Given the description of an element on the screen output the (x, y) to click on. 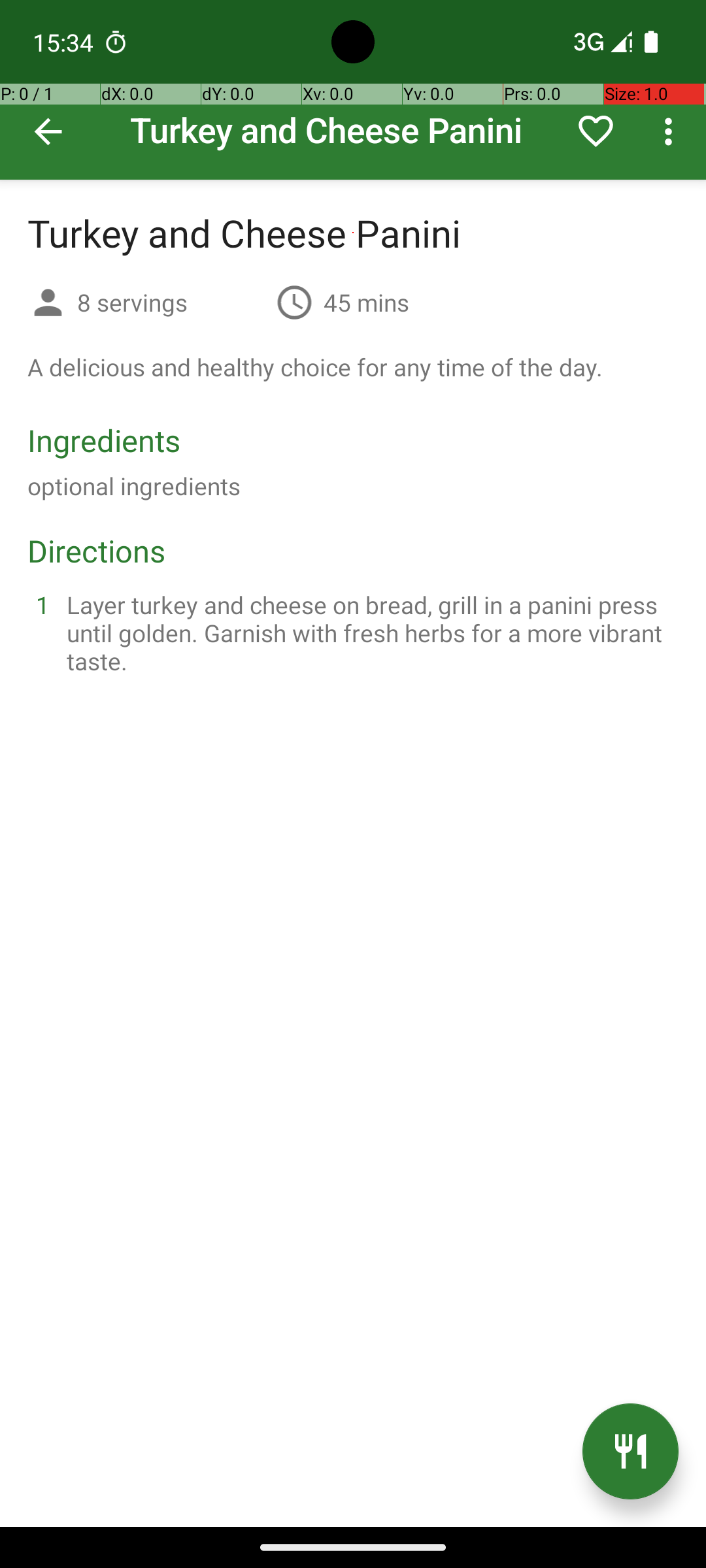
Turkey and Cheese Panini Element type: android.widget.FrameLayout (353, 89)
Layer turkey and cheese on bread, grill in a panini press until golden. Garnish with fresh herbs for a more vibrant taste. Element type: android.widget.TextView (368, 632)
